Given the description of an element on the screen output the (x, y) to click on. 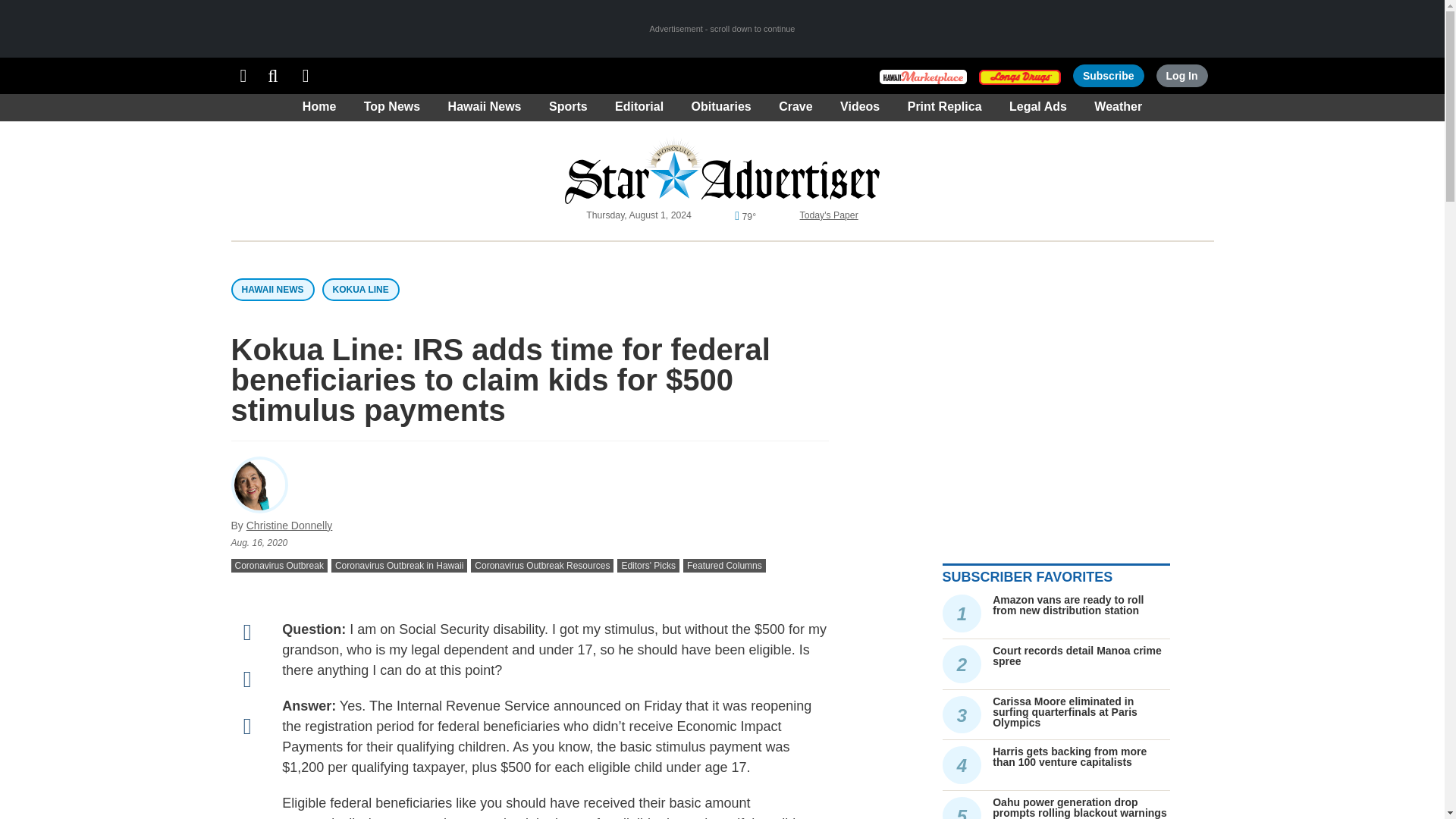
Print Replica (306, 75)
See more stories by Christine Donnelly (289, 525)
Court records detail Manoa crime spree (1076, 655)
Subscribe (1108, 75)
Log In (1182, 75)
Search (272, 75)
Amazon vans are ready to roll from new distribution station (1067, 604)
Honolulu Star-Advertiser (721, 169)
Sections (243, 75)
